Given the description of an element on the screen output the (x, y) to click on. 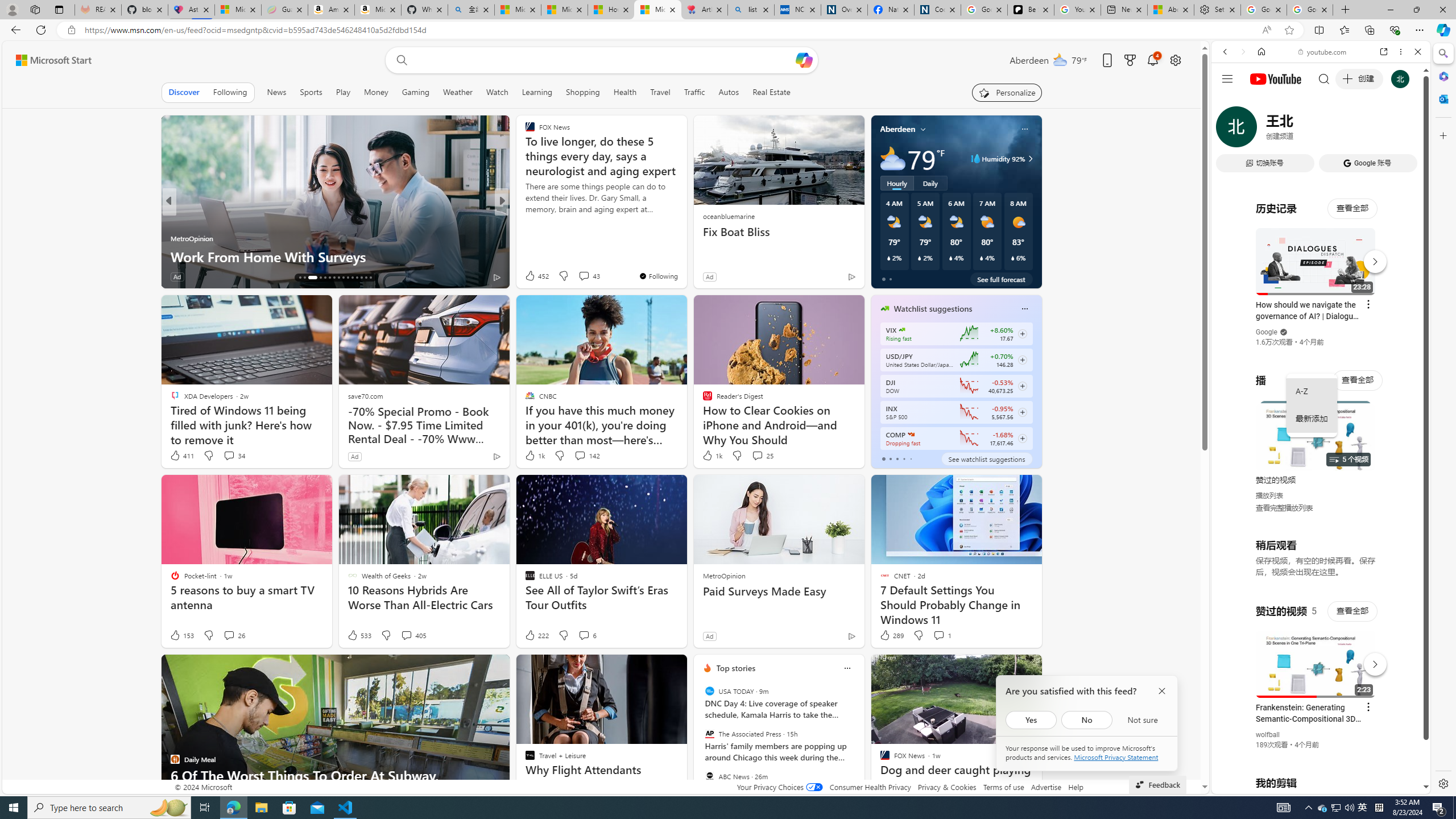
Humidity 92% (1028, 158)
Daily Meal (174, 238)
tab-4 (910, 458)
View comments 43 Comment (588, 275)
Dislike (917, 634)
20 Like (530, 276)
Class: b_serphb (1404, 130)
289 Like (890, 634)
Class: follow-button  m (1021, 438)
Real Estate (771, 92)
